Given the description of an element on the screen output the (x, y) to click on. 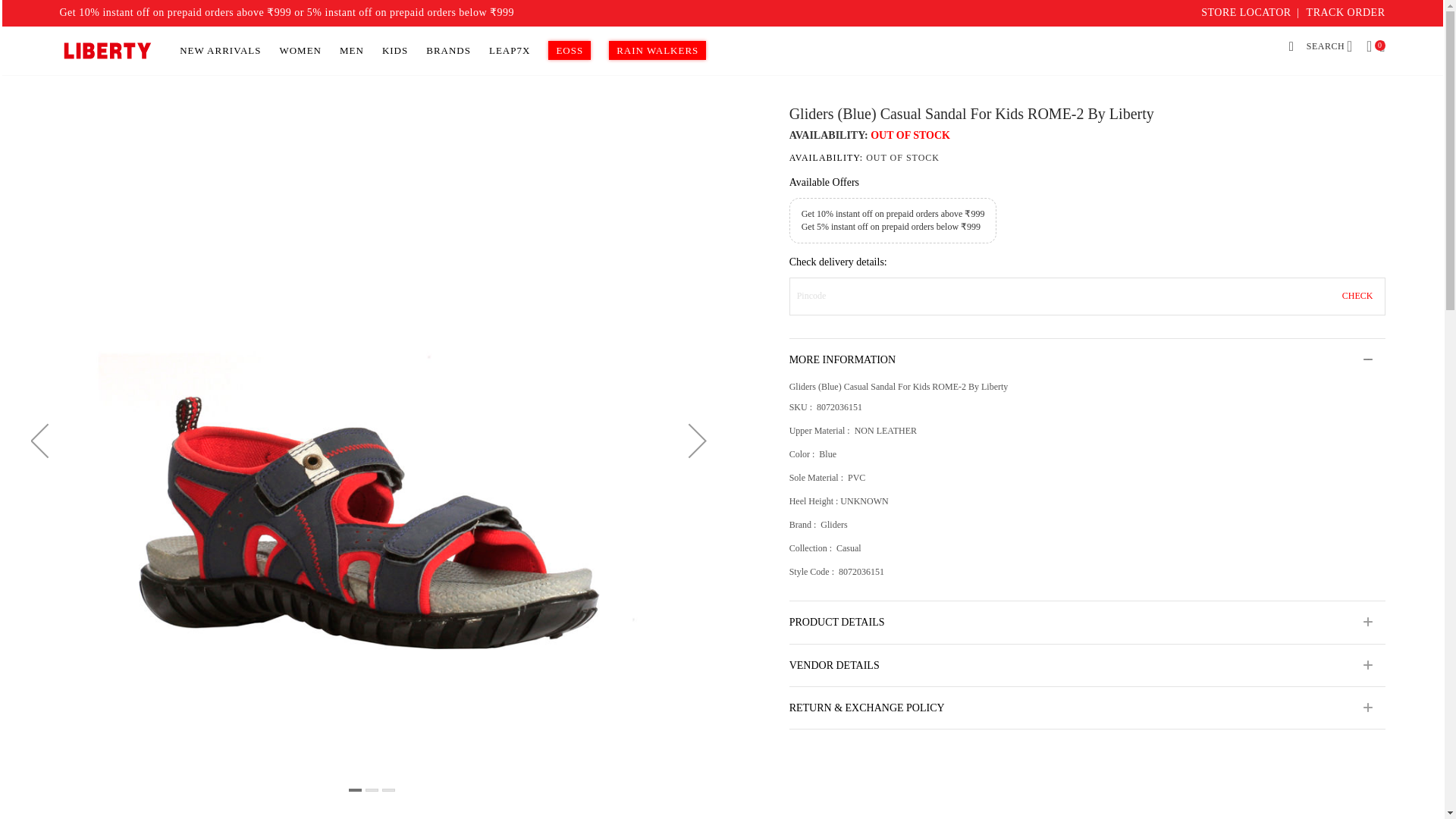
Search (1313, 46)
STORE LOCATOR (1245, 12)
Liberty Shoes Online (107, 50)
TRACK ORDER (1346, 12)
Availability (1087, 157)
Check (1357, 296)
Availability (869, 135)
